Given the description of an element on the screen output the (x, y) to click on. 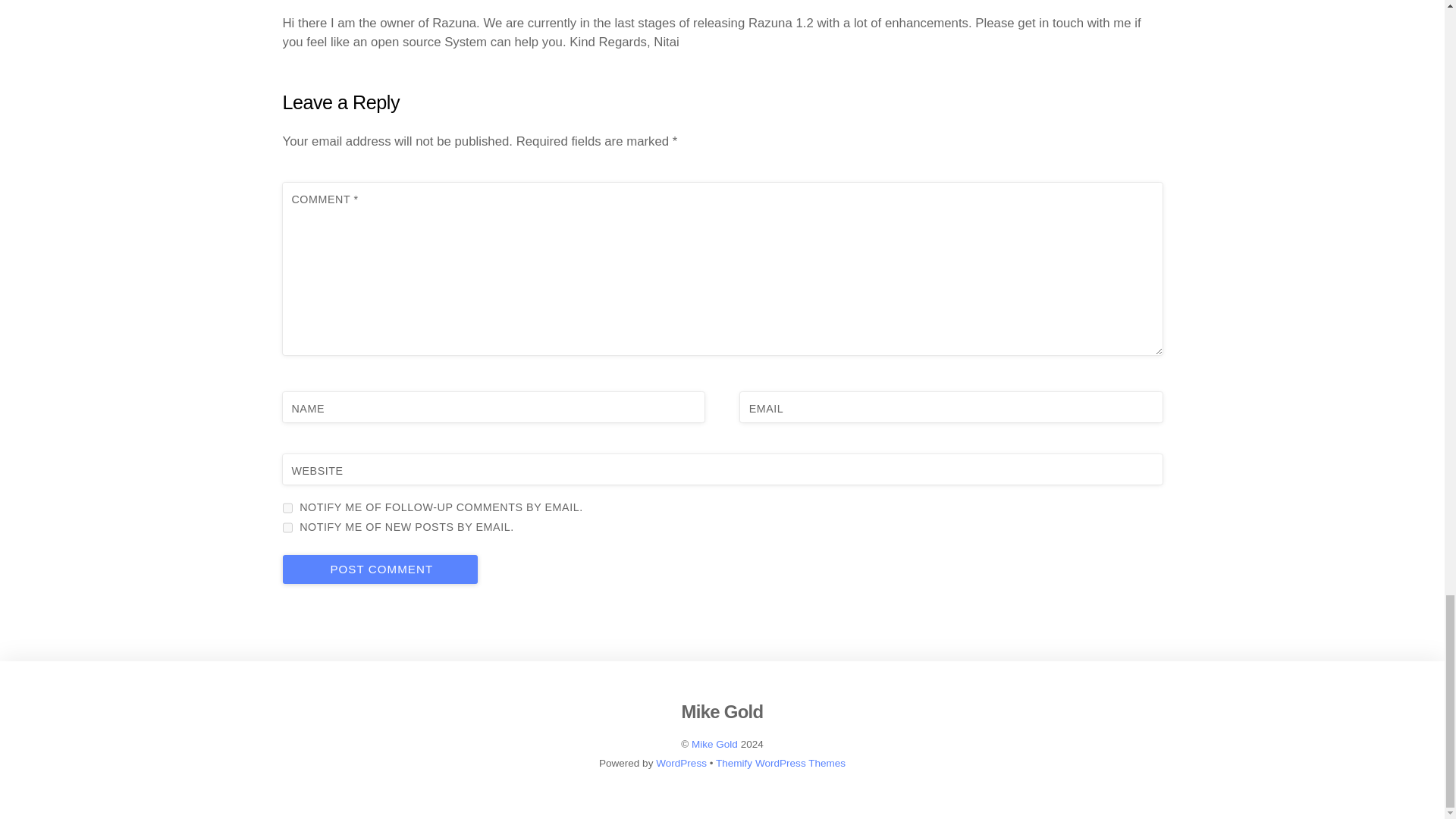
Mike Gold (721, 711)
Post Comment (379, 569)
Post Comment (379, 569)
Mike Gold (721, 711)
